Given the description of an element on the screen output the (x, y) to click on. 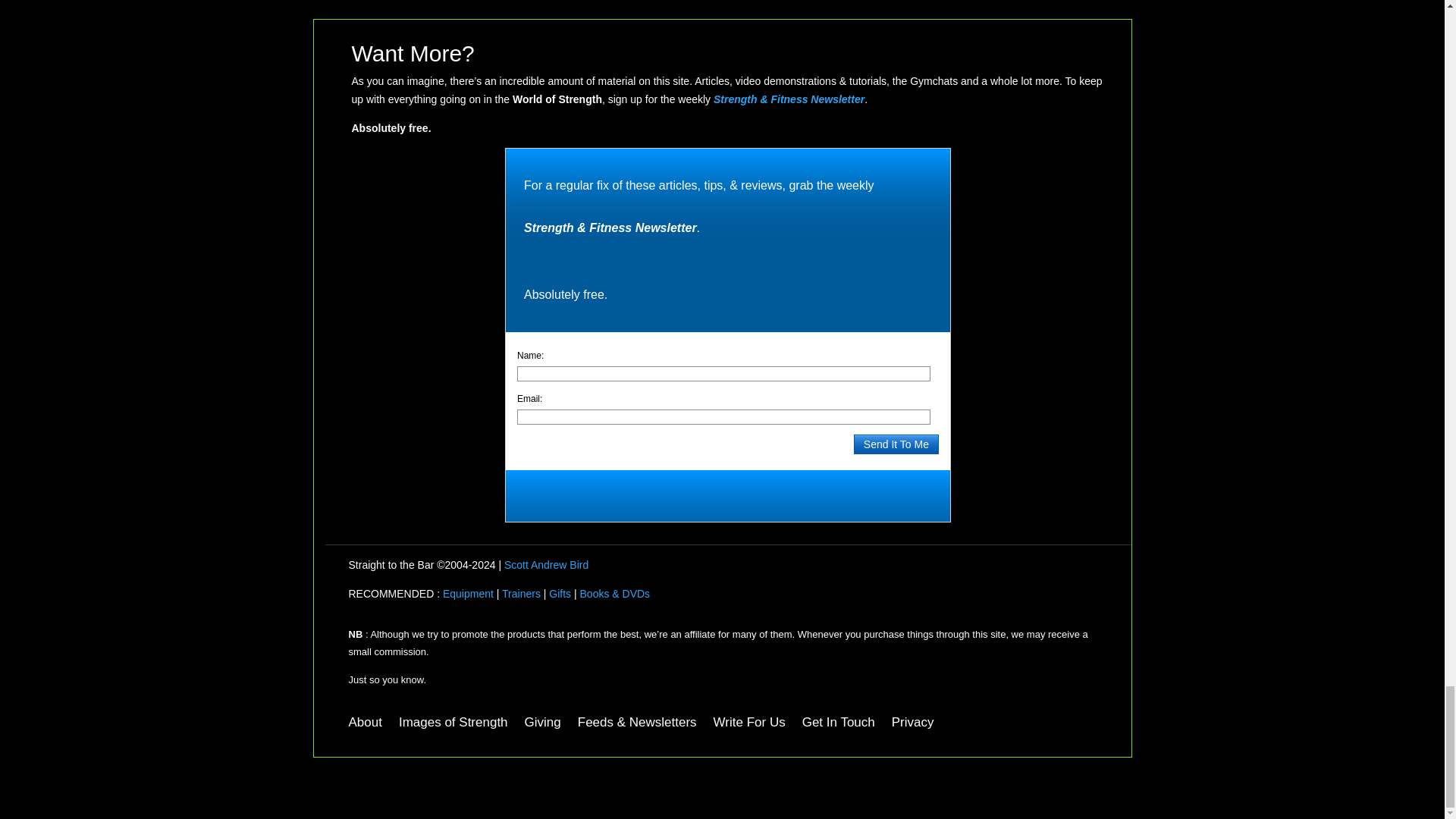
Send It To Me (896, 444)
